Given the description of an element on the screen output the (x, y) to click on. 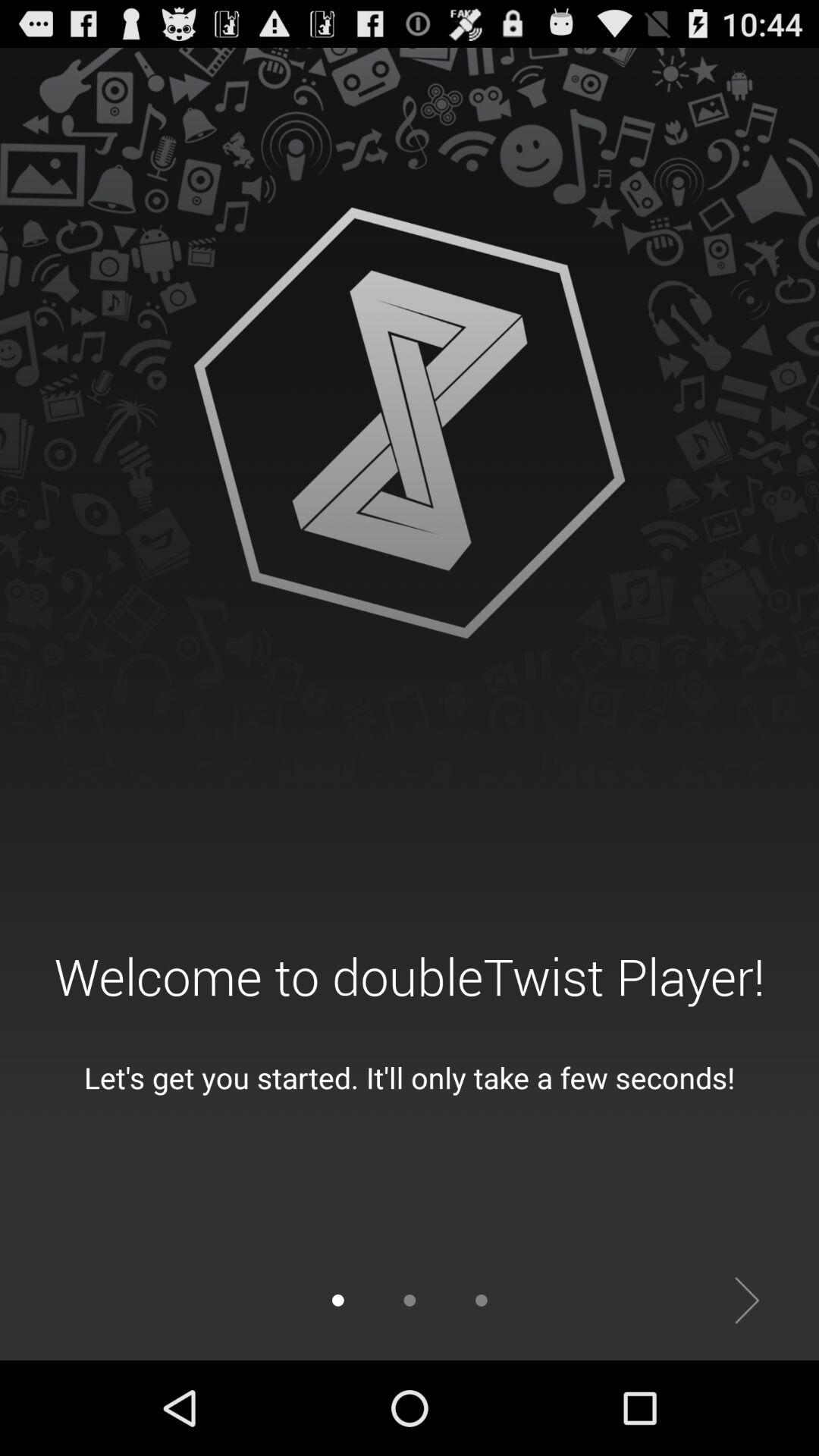
got to next slider (747, 1300)
